Given the description of an element on the screen output the (x, y) to click on. 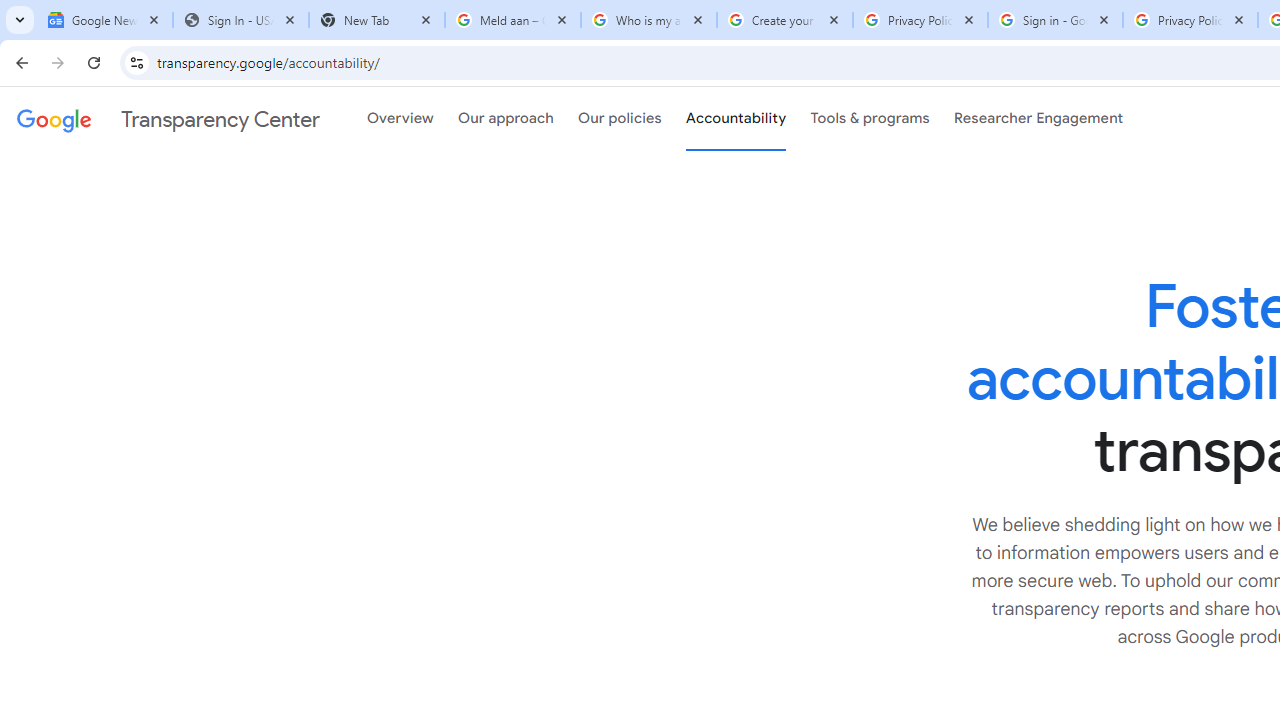
Our policies (619, 119)
Tools & programs (869, 119)
Accountability (735, 119)
Google News (104, 20)
Transparency Center (167, 119)
Who is my administrator? - Google Account Help (648, 20)
Sign in - Google Accounts (1055, 20)
